Given the description of an element on the screen output the (x, y) to click on. 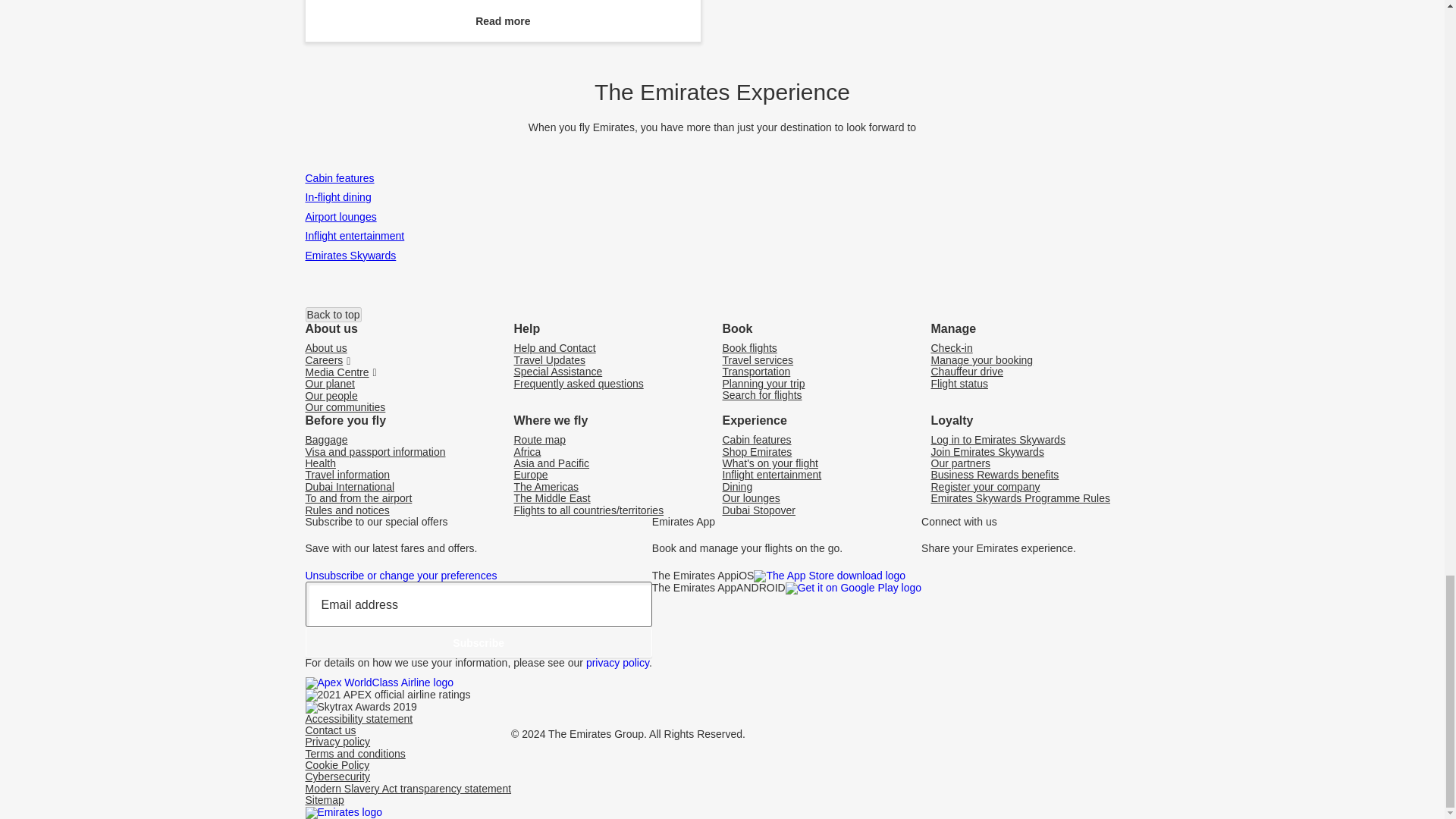
Unsubscribe or change your preferences (400, 575)
Inflight Entertainment Index -  Inflight Entertainment (354, 239)
Read more (502, 20)
Our lounges - Airport lounges (339, 220)
World Class Airline APEX Official Airline Ratings (378, 683)
Cabin Features Index - Cabin features (339, 181)
privacy policy (617, 662)
Dining Index - Dining (337, 200)
